Given the description of an element on the screen output the (x, y) to click on. 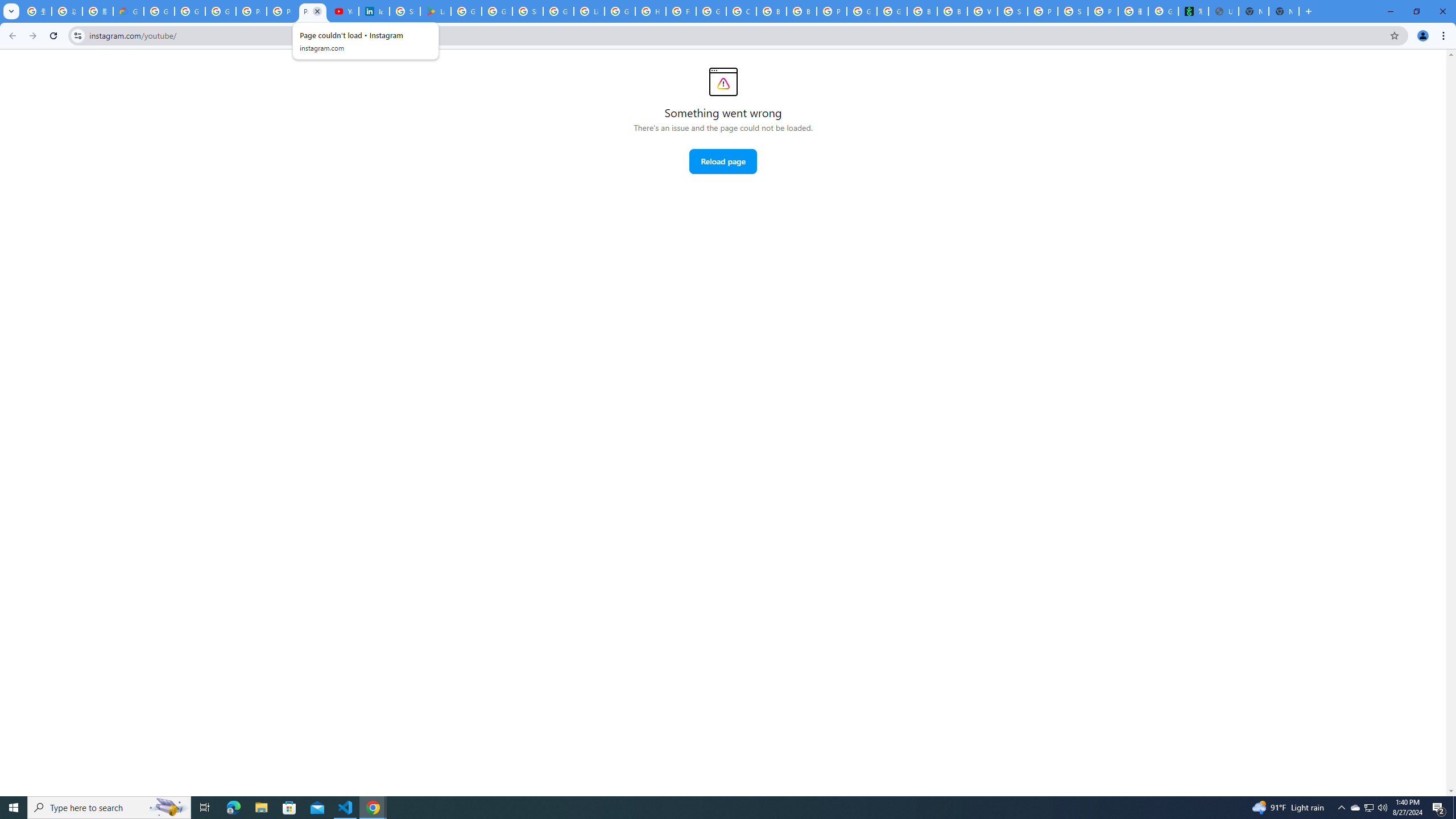
Reload page (722, 161)
How do I create a new Google Account? - Google Account Help (650, 11)
Google Workspace - Specific Terms (496, 11)
